Given the description of an element on the screen output the (x, y) to click on. 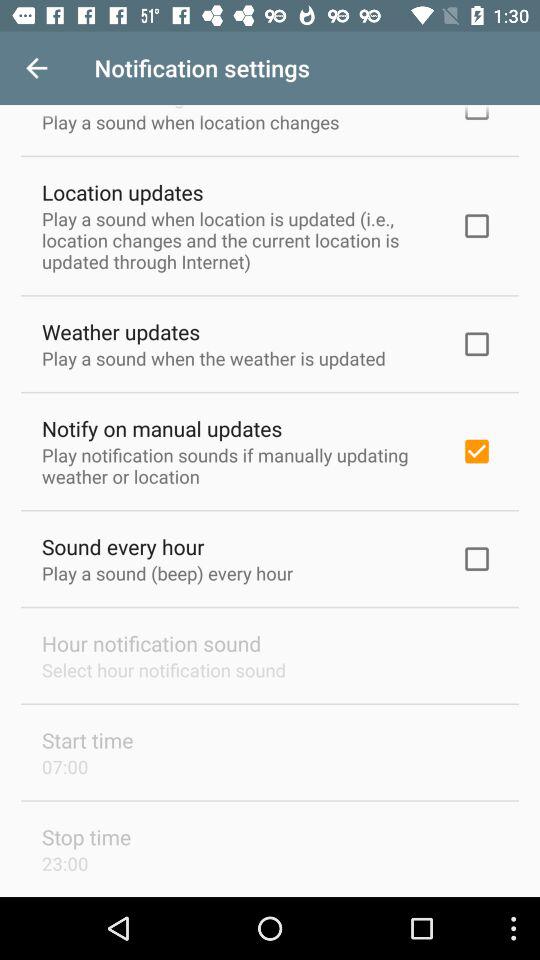
press icon below notify on manual icon (238, 465)
